Given the description of an element on the screen output the (x, y) to click on. 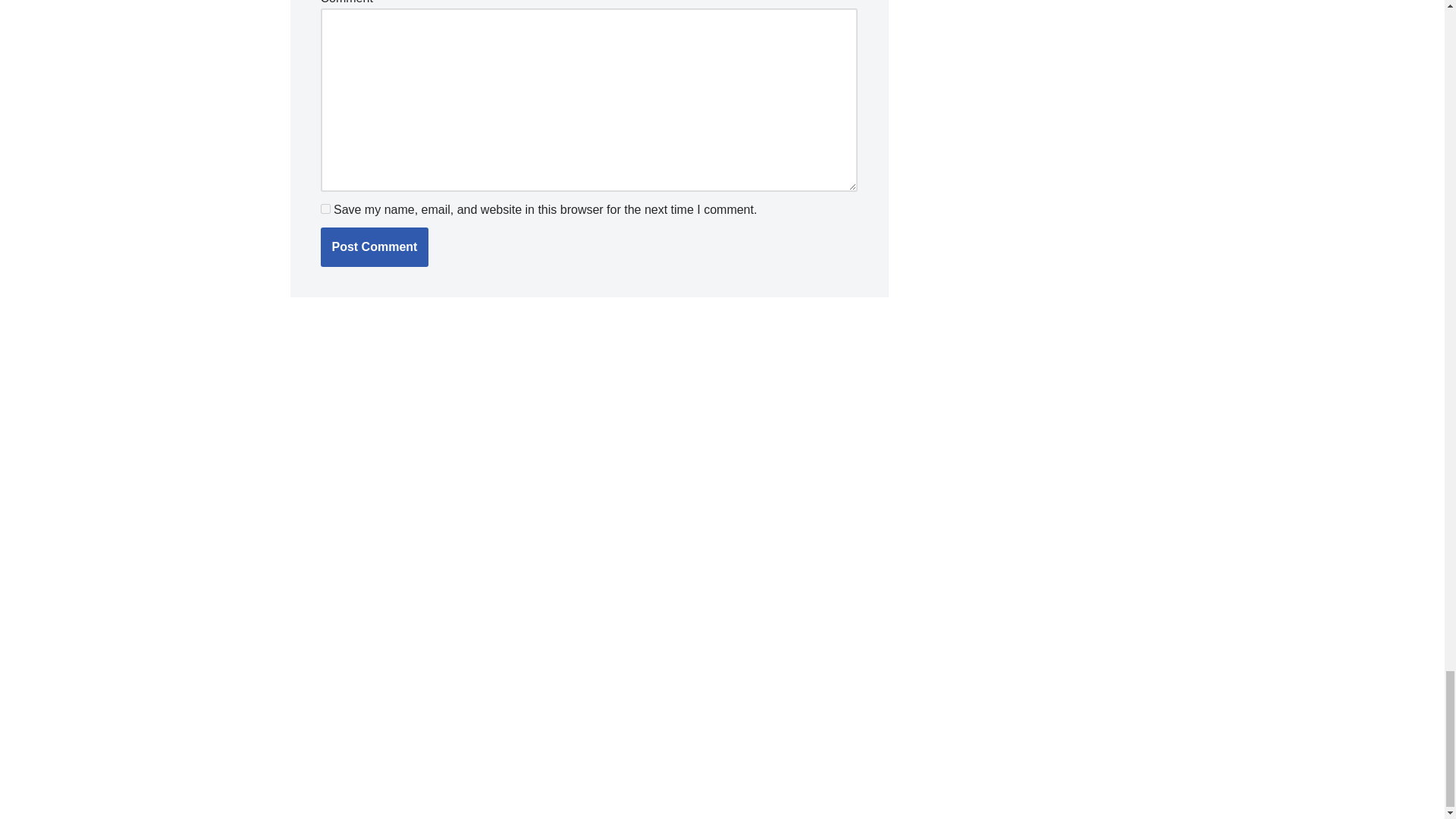
yes (325, 208)
Post Comment (374, 246)
